Given the description of an element on the screen output the (x, y) to click on. 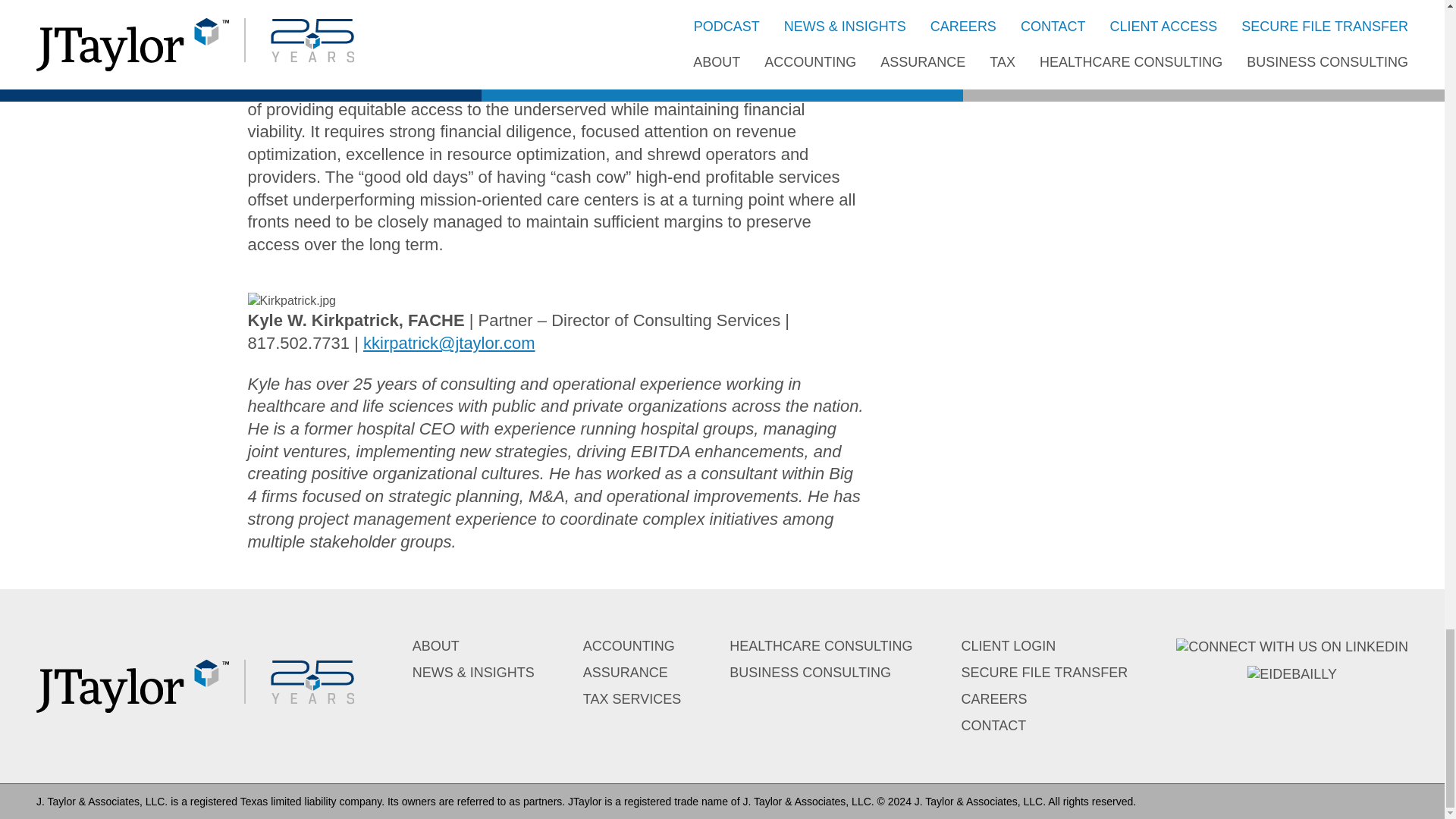
Kirkpatrick.jpg (290, 300)
